Given the description of an element on the screen output the (x, y) to click on. 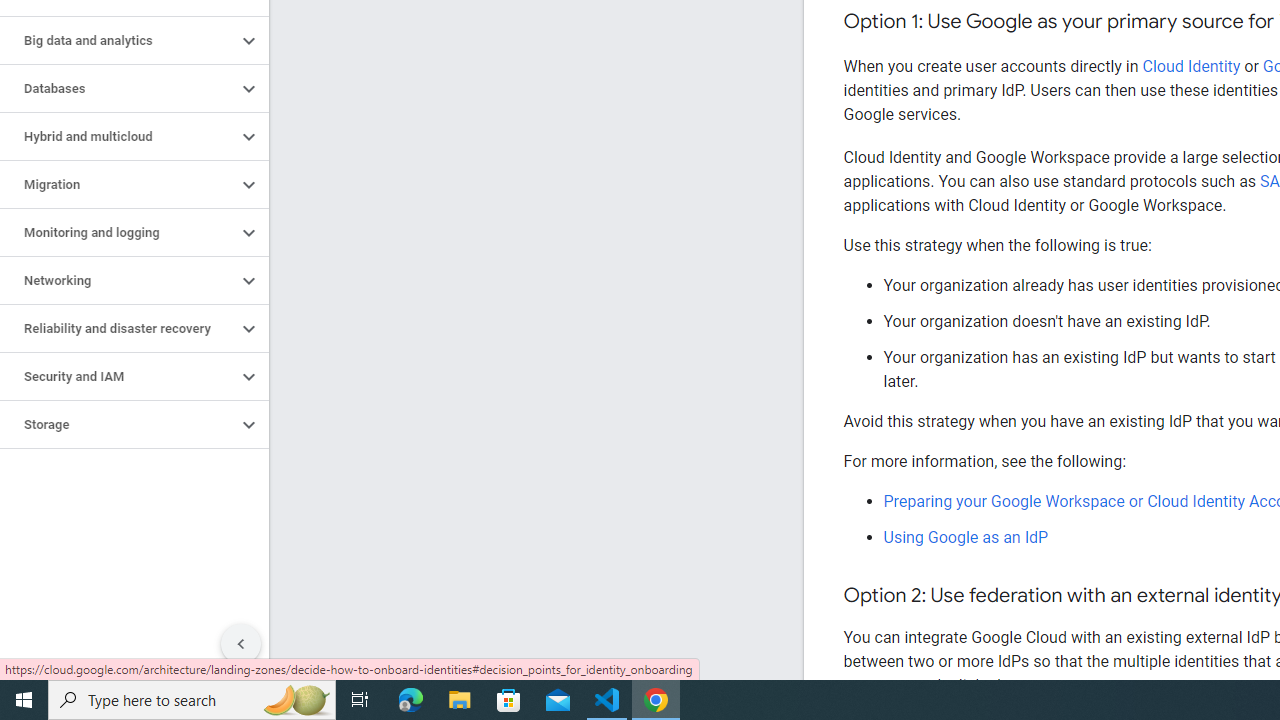
Reliability and disaster recovery (118, 328)
Databases (118, 88)
Migration (118, 184)
Networking (118, 281)
Hide side navigation (241, 643)
Cloud Identity (1191, 66)
Big data and analytics (118, 40)
Using Google as an IdP (966, 537)
Storage (118, 425)
Security and IAM (118, 376)
Hybrid and multicloud (118, 137)
Monitoring and logging (118, 232)
